Given the description of an element on the screen output the (x, y) to click on. 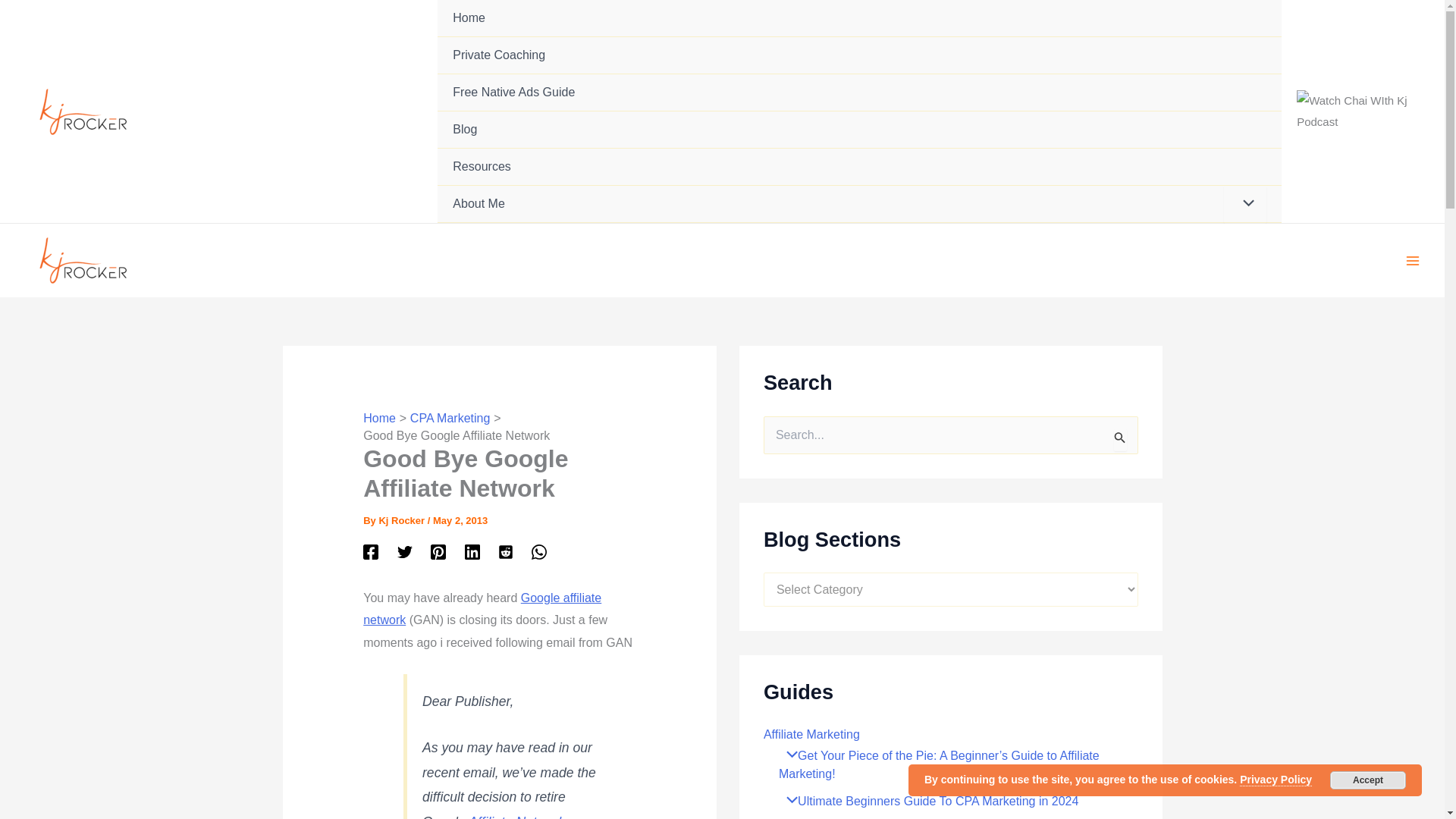
CPA Marketing Coach (859, 55)
About Me (859, 203)
Private Coaching (859, 55)
Google affiliate network (481, 609)
Kj Rocker (402, 520)
Blog (859, 129)
Menu Toggle (1245, 204)
Main Menu (1412, 260)
Affiliate Marketing Blog (859, 129)
Free Native Ads Guide (859, 92)
Search (1120, 437)
CPA Marketing (450, 418)
Resources (859, 166)
Affiliate Network (516, 816)
Home (379, 418)
